Given the description of an element on the screen output the (x, y) to click on. 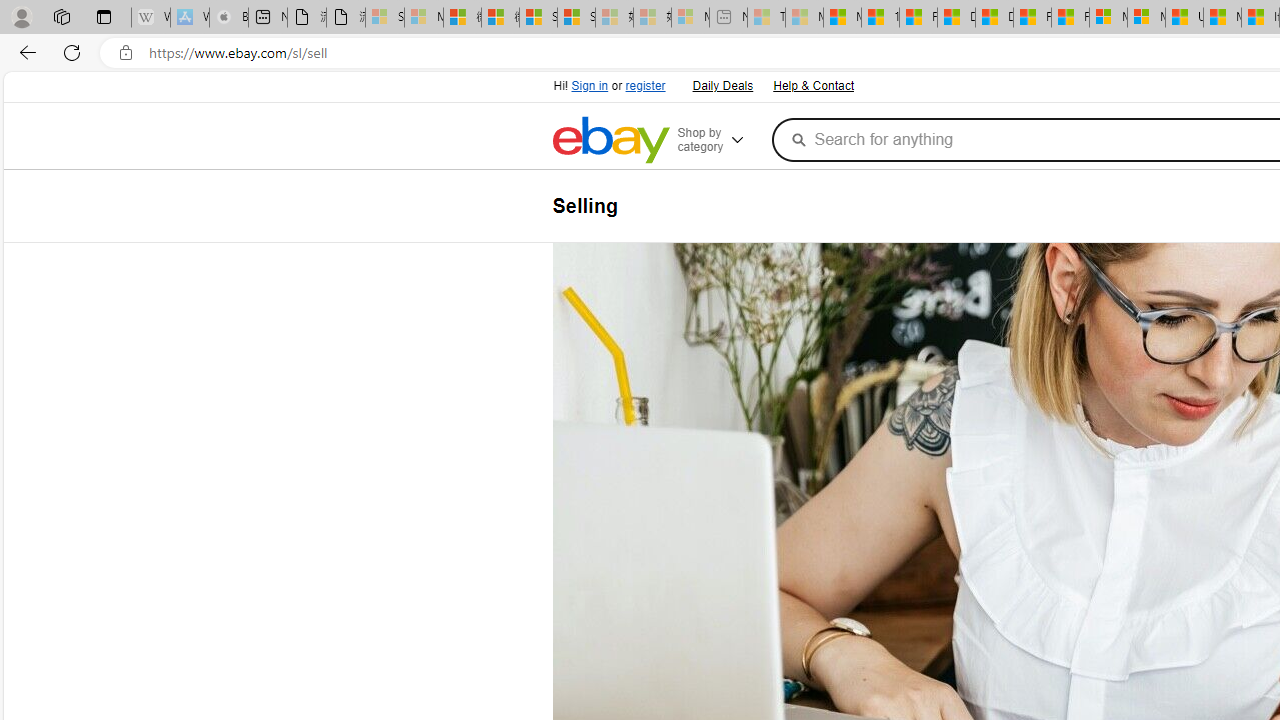
Food and Drink - MSN (917, 17)
Daily Deals (721, 84)
Marine life - MSN - Sleeping (804, 17)
Microsoft Services Agreement - Sleeping (423, 17)
Shop by category (720, 140)
Help & Contact (813, 86)
eBay Home (610, 139)
